Given the description of an element on the screen output the (x, y) to click on. 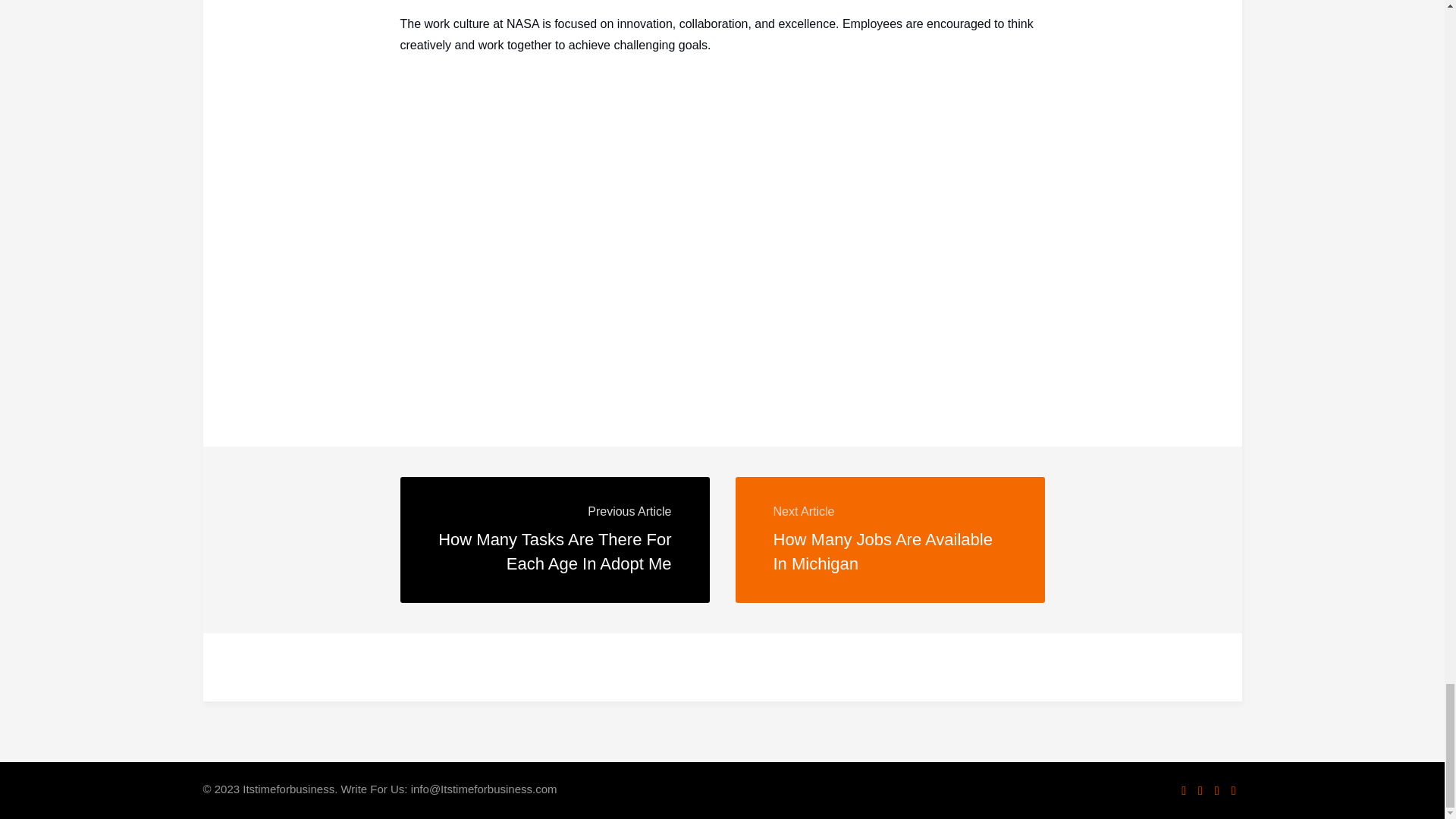
How Many Jobs Are Available In Michigan (882, 551)
How Many Tasks Are There For Each Age In Adopt Me (554, 551)
